Given the description of an element on the screen output the (x, y) to click on. 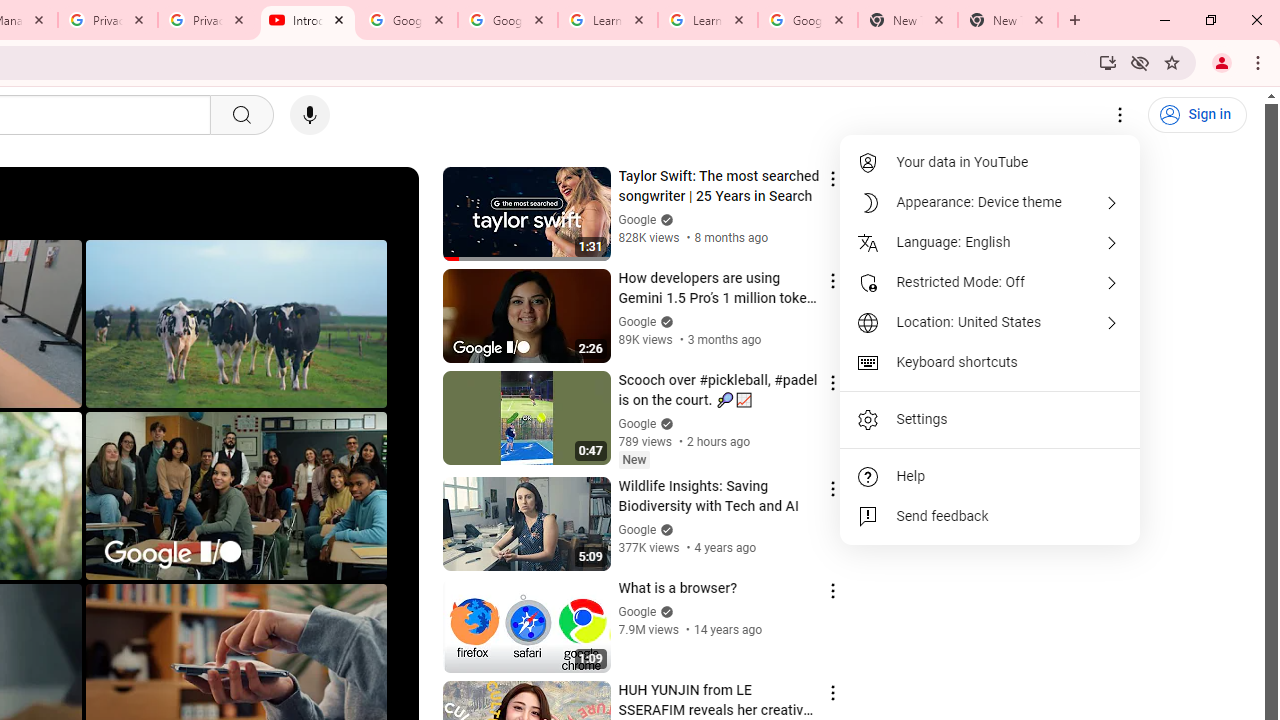
Google Account (807, 20)
Language: English (989, 242)
